Given the description of an element on the screen output the (x, y) to click on. 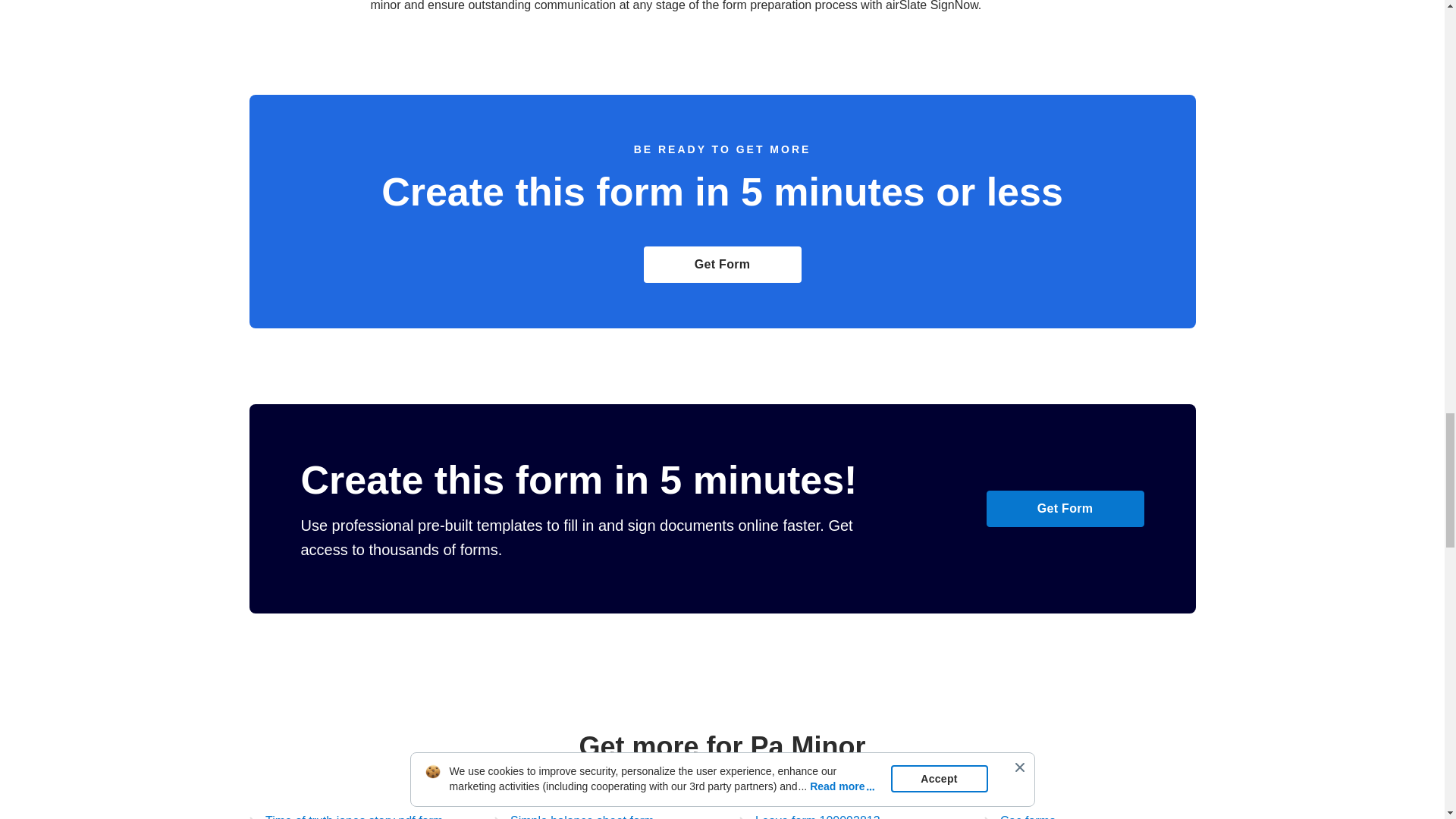
Time of truth janes story pdf form (345, 814)
Get Form (1063, 508)
Get Form (721, 264)
Simple balance sheet form (574, 814)
Cac forms (1019, 814)
Leave form 100092813 (808, 814)
